Given the description of an element on the screen output the (x, y) to click on. 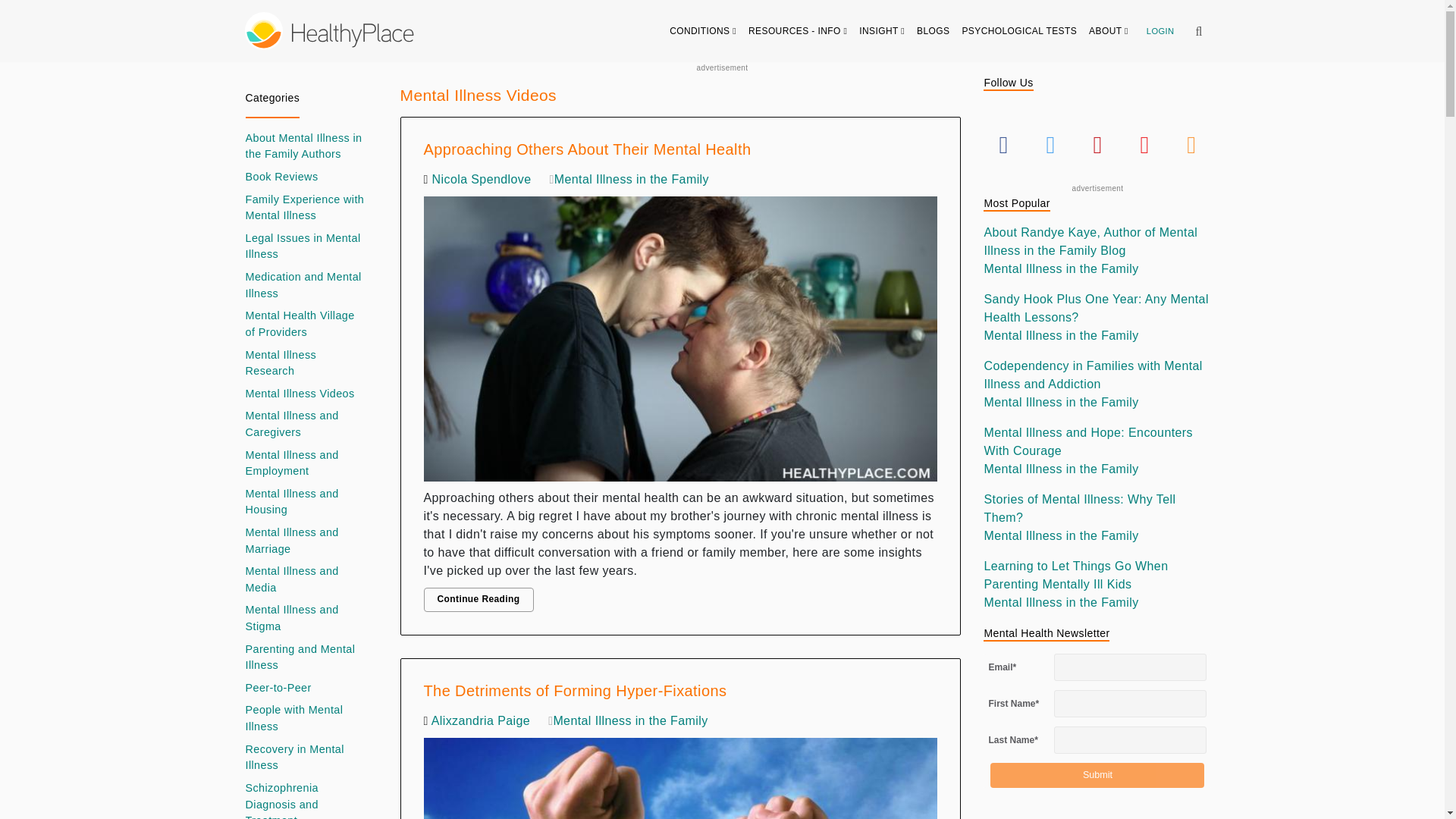
INSIGHT (882, 31)
CONDITIONS (702, 31)
The Detriments of Forming Hyper-Fixations (680, 774)
RESOURCES - INFO (797, 31)
Submit (1097, 774)
